Given the description of an element on the screen output the (x, y) to click on. 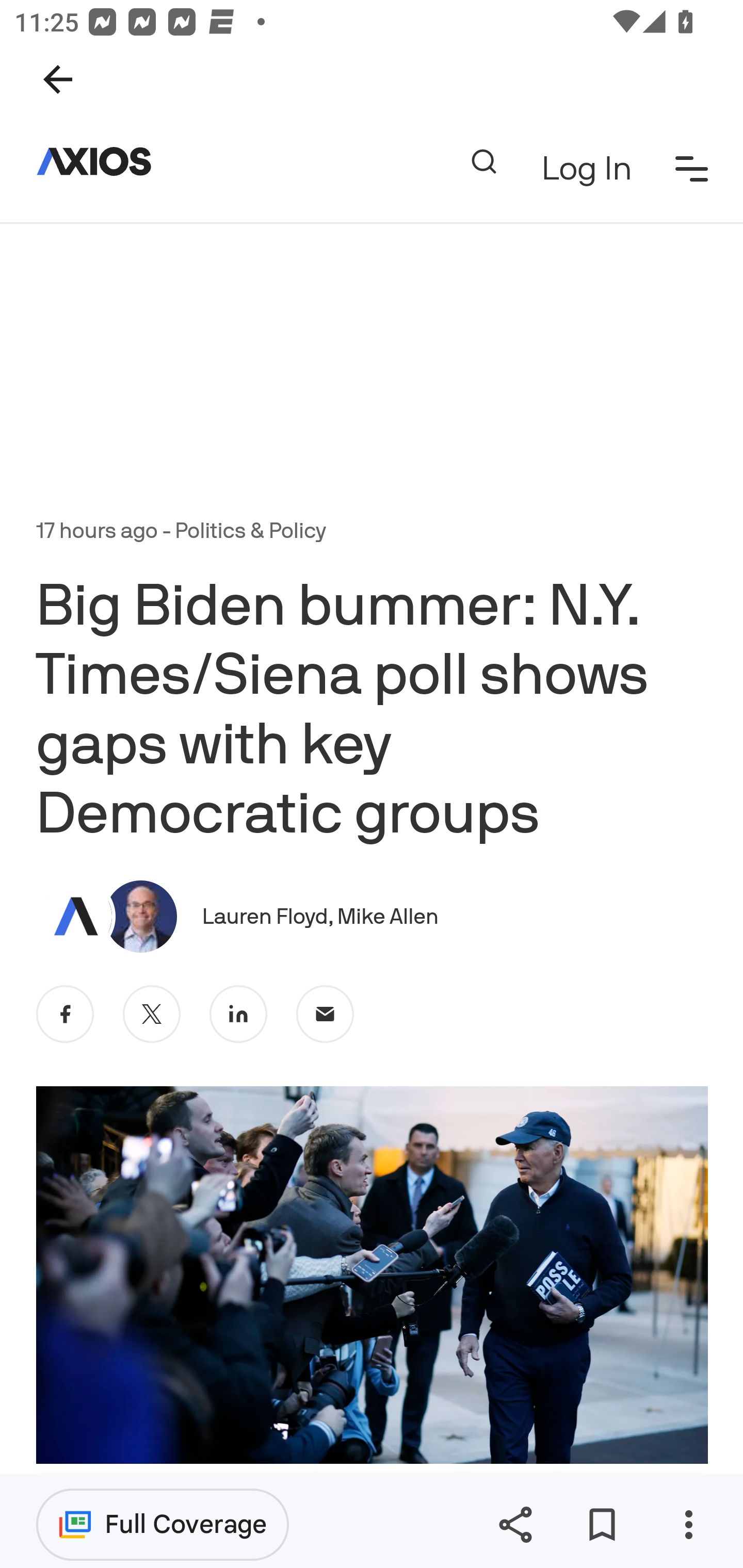
Navigate up (57, 79)
Axios Homepage (101, 161)
Search Page (482, 161)
Log In (586, 168)
Section Menu (692, 168)
Politics & Policy (249, 531)
Lauren Floyd , Lauren Floyd , (269, 916)
Mike Allen (388, 916)
Share on facebook (opens in new window) (65, 1012)
Share on twitter (opens in new window) (152, 1012)
Share on linkedin (opens in new window) (238, 1012)
Share on email (opens in new window) (325, 1012)
Share (514, 1524)
Save for later (601, 1524)
More options (688, 1524)
Full Coverage (162, 1524)
